Given the description of an element on the screen output the (x, y) to click on. 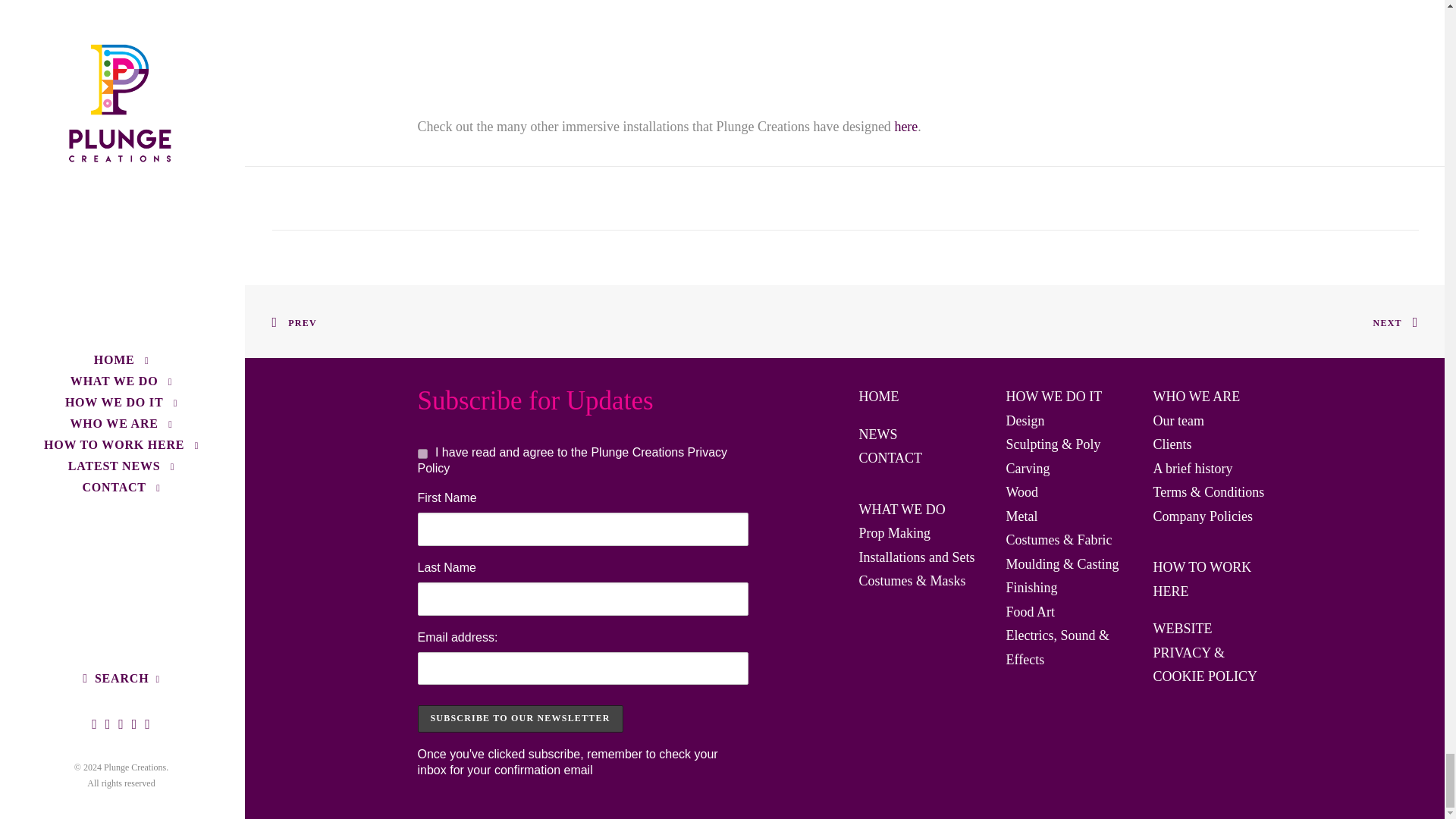
1 (421, 453)
NEWS (877, 434)
here (905, 126)
NEXT (1395, 321)
WHAT WE DO (901, 509)
CONTACT (890, 458)
PREV (292, 321)
HOME (878, 396)
Subscribe to our Newsletter (519, 718)
Subscribe to our Newsletter (519, 718)
